Given the description of an element on the screen output the (x, y) to click on. 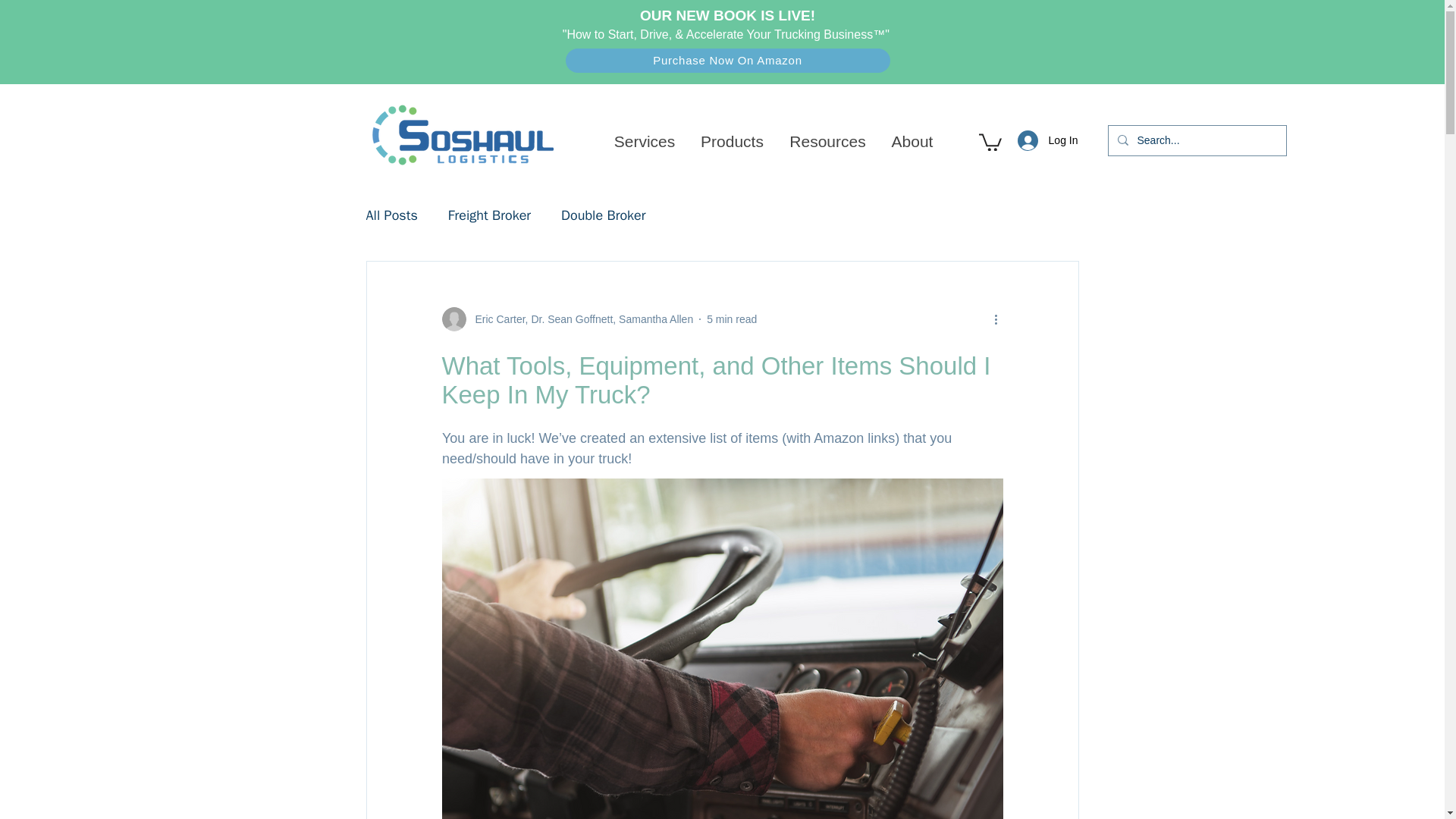
Services (643, 141)
Log In (1048, 140)
5 min read (731, 318)
Freight Broker (489, 215)
All Posts (390, 215)
Eric Carter, Dr. Sean Goffnett, Samantha Allen (567, 319)
Eric Carter, Dr. Sean Goffnett, Samantha Allen (579, 319)
Purchase Now On Amazon (727, 60)
About (910, 141)
Double Broker (602, 215)
